Given the description of an element on the screen output the (x, y) to click on. 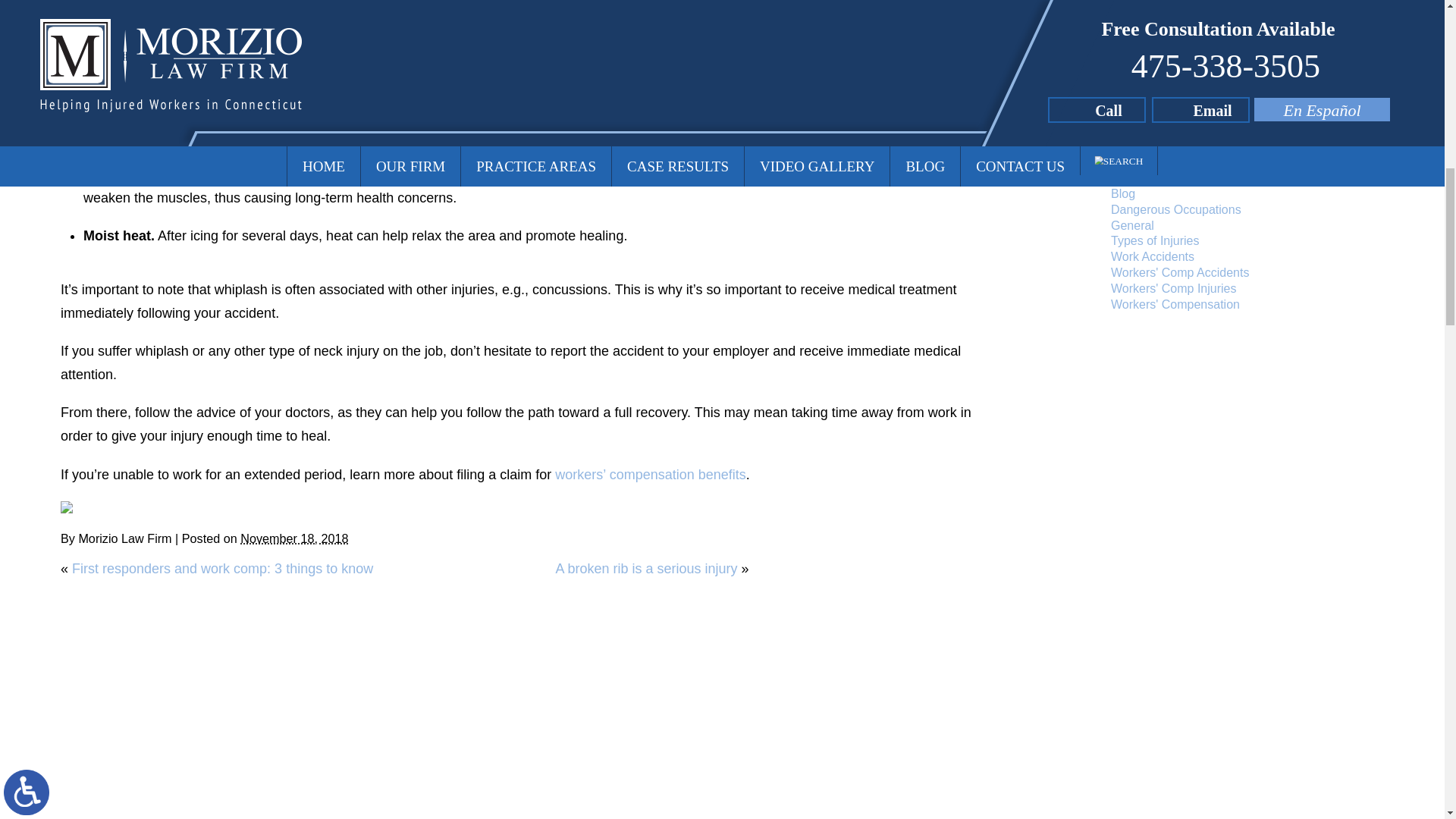
LinkedIn (87, 507)
2018-11-18T18:00:00-0800 (293, 538)
Facebook (66, 507)
Twitter (76, 507)
